Given the description of an element on the screen output the (x, y) to click on. 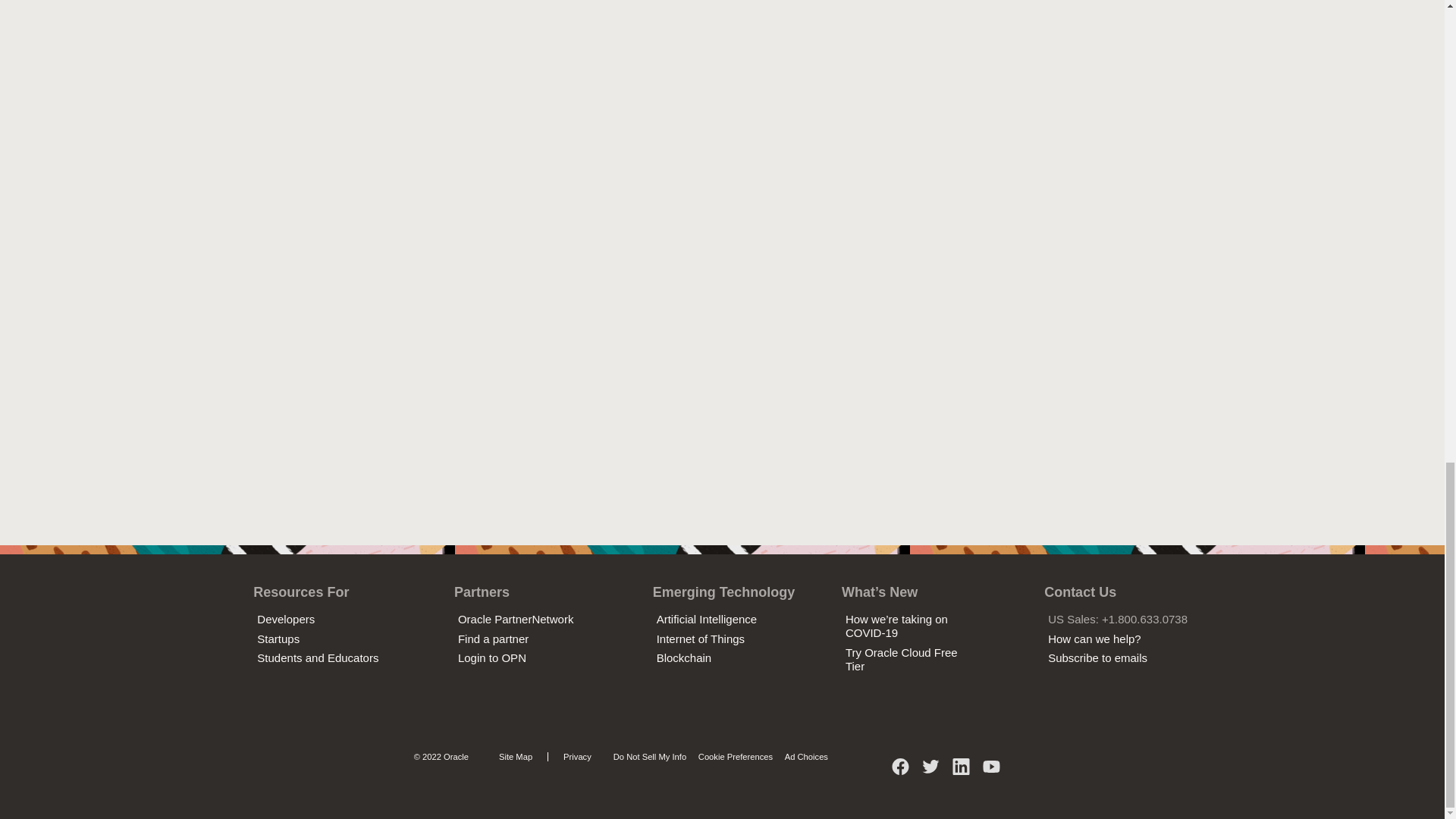
Developers (285, 618)
Follow Oracle on Twitter (931, 771)
Artificial Intelligence (706, 618)
Startups (278, 638)
Subscribe to emails (1097, 657)
Login to OPN (491, 657)
Watch Oracle on YouTube (991, 771)
Oracle on Facebook (900, 771)
How can we help? (1094, 638)
Blockchain (683, 657)
Internet of Things (700, 638)
Oracle PartnerNetwork (515, 618)
Oracle on LinkedIn (961, 771)
Find a partner (493, 638)
Try Oracle Cloud Free Tier (901, 659)
